Given the description of an element on the screen output the (x, y) to click on. 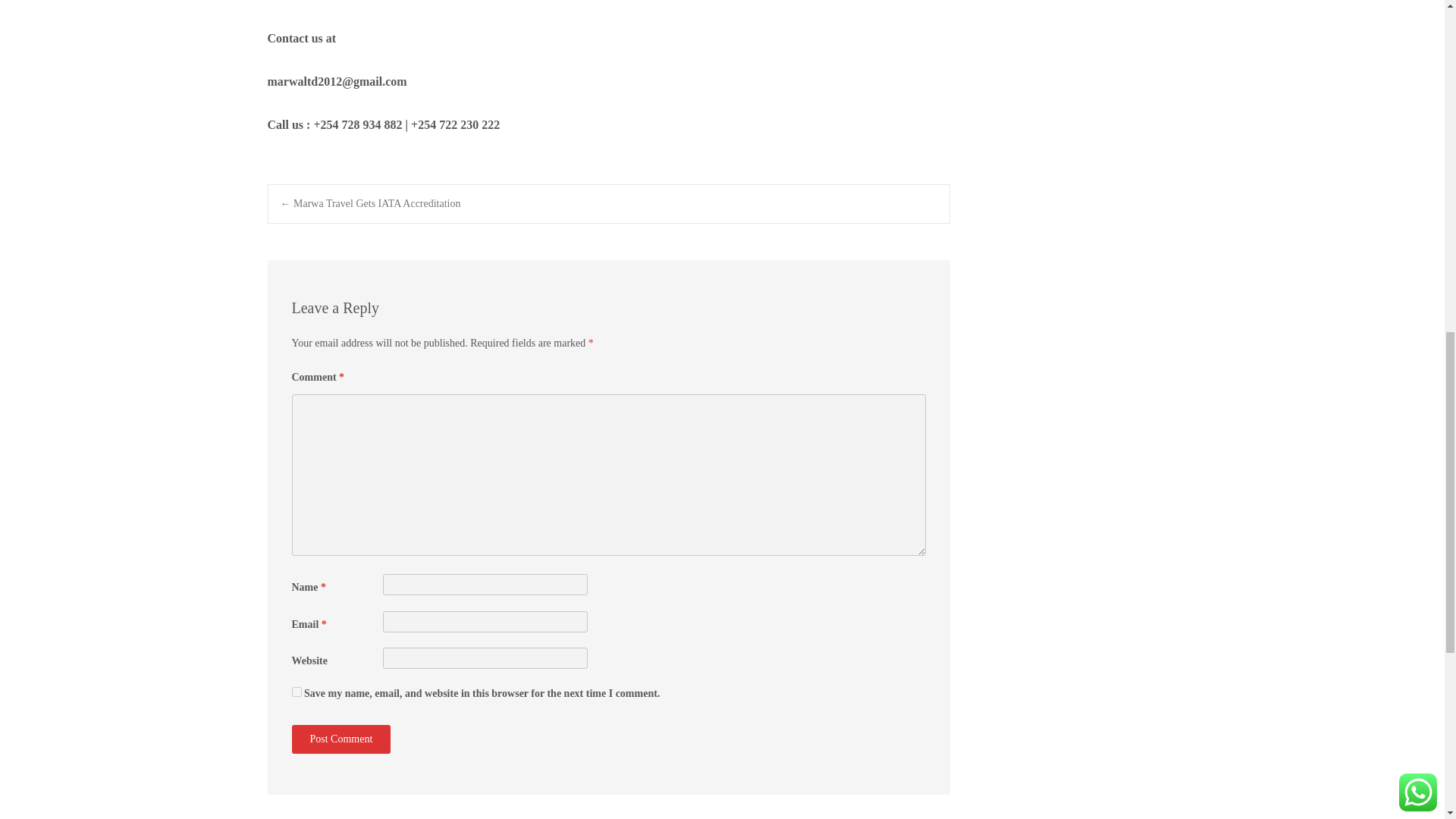
Post Comment (340, 738)
Post Comment (340, 738)
yes (296, 691)
